Given the description of an element on the screen output the (x, y) to click on. 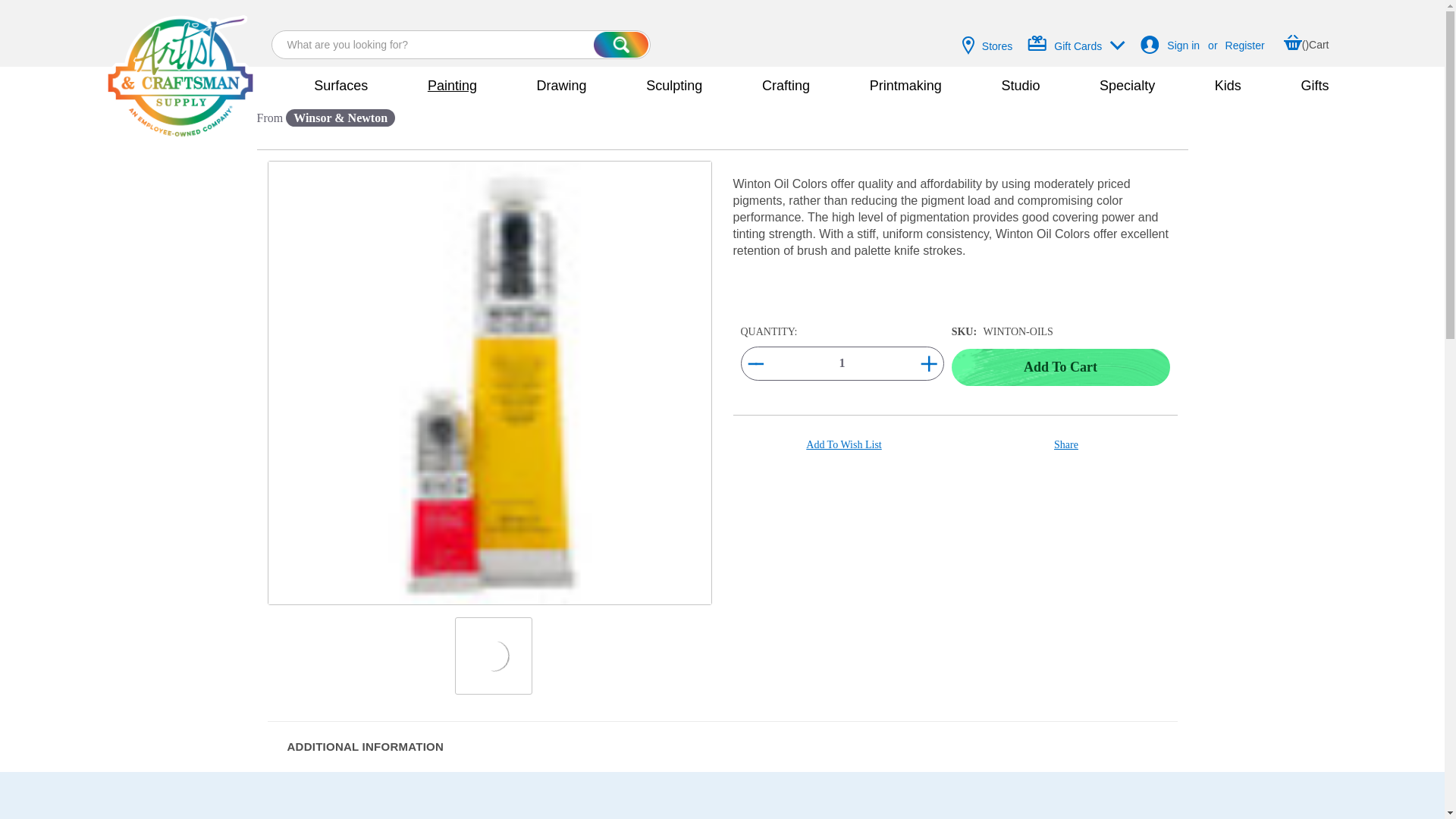
Drawing (542, 85)
Gift Cards (1079, 44)
Surfaces (323, 85)
Add to Cart (1061, 366)
Sign in (1183, 45)
Stores (986, 44)
Painting (432, 85)
1 (841, 363)
Register (1245, 45)
